Given the description of an element on the screen output the (x, y) to click on. 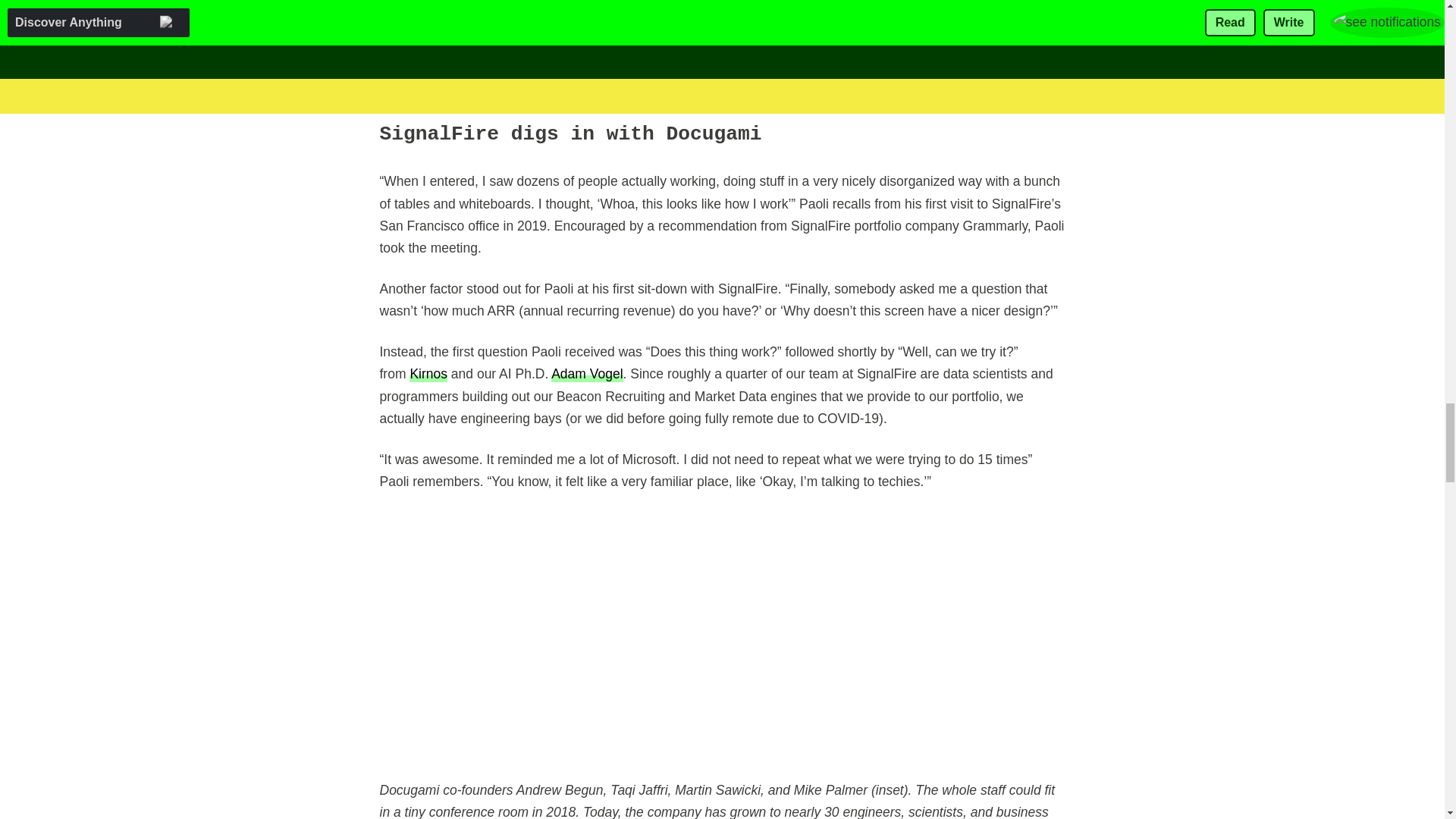
Adam Vogel (587, 373)
sign up here for early access (717, 77)
Kirnos (427, 373)
